Given the description of an element on the screen output the (x, y) to click on. 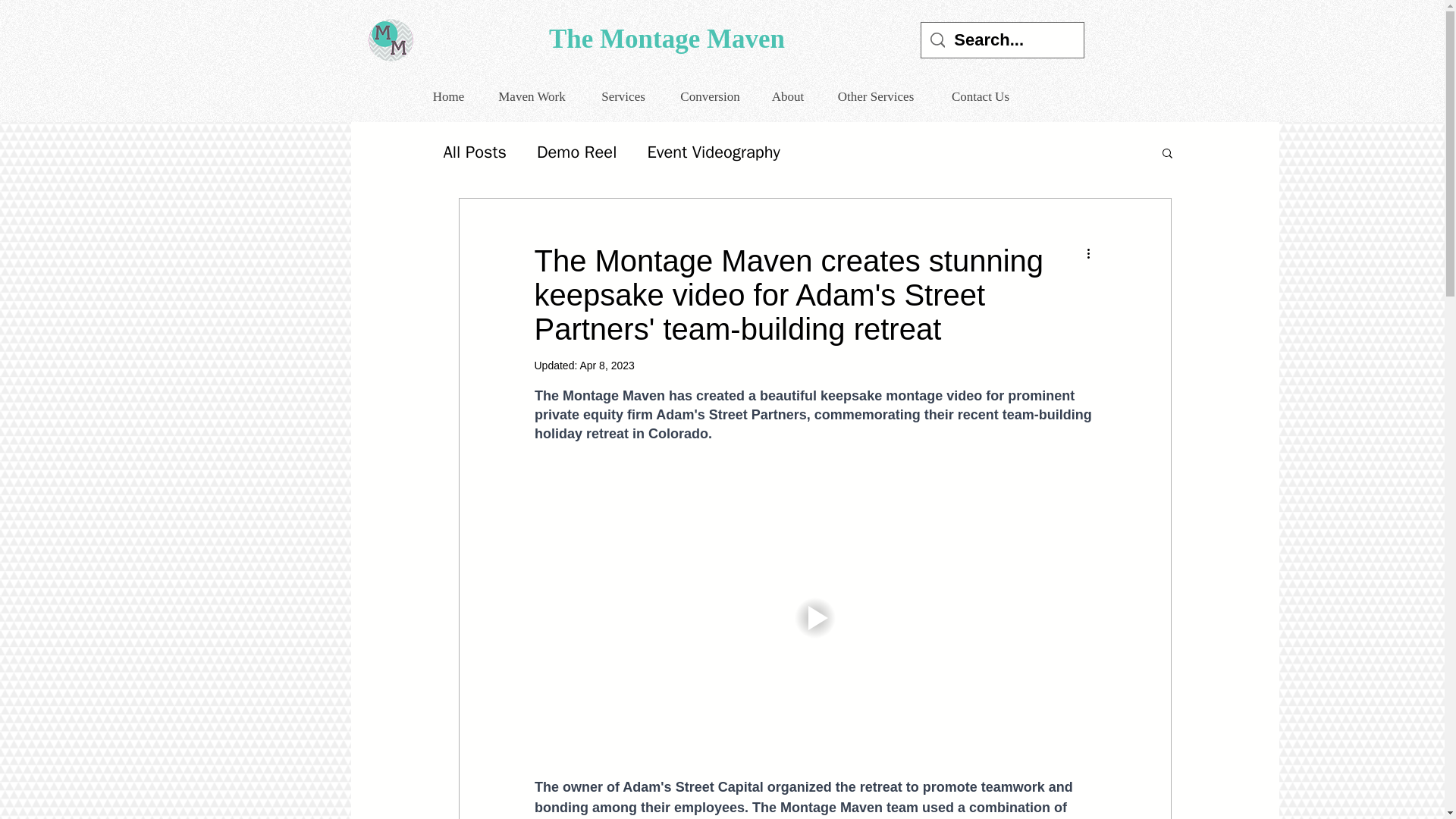
About (787, 96)
Maven Work (532, 96)
Other Services (875, 96)
Apr 8, 2023 (606, 365)
Services (622, 96)
Conversion (709, 96)
Home (447, 96)
